Given the description of an element on the screen output the (x, y) to click on. 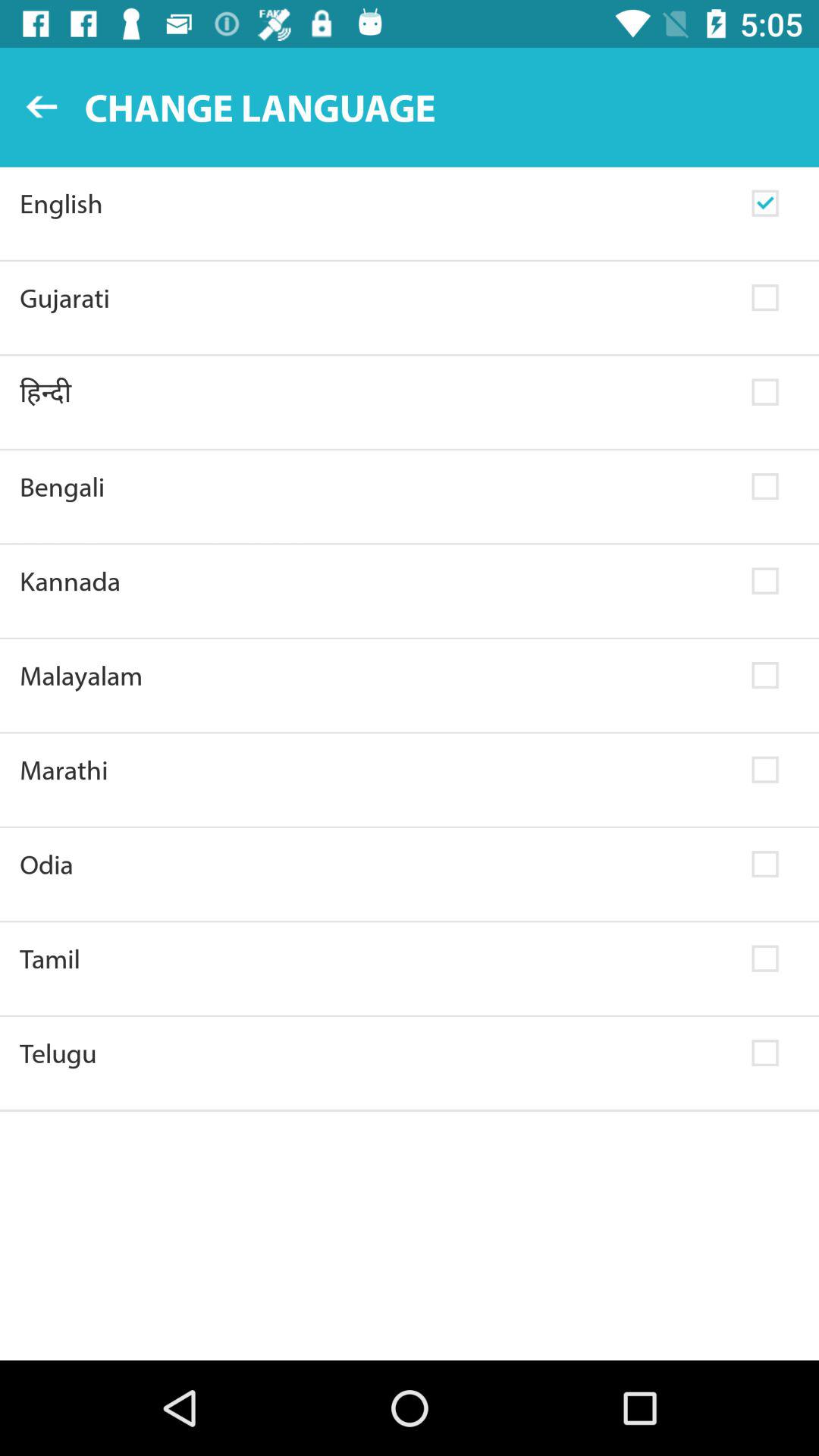
click malayalam icon (375, 675)
